Given the description of an element on the screen output the (x, y) to click on. 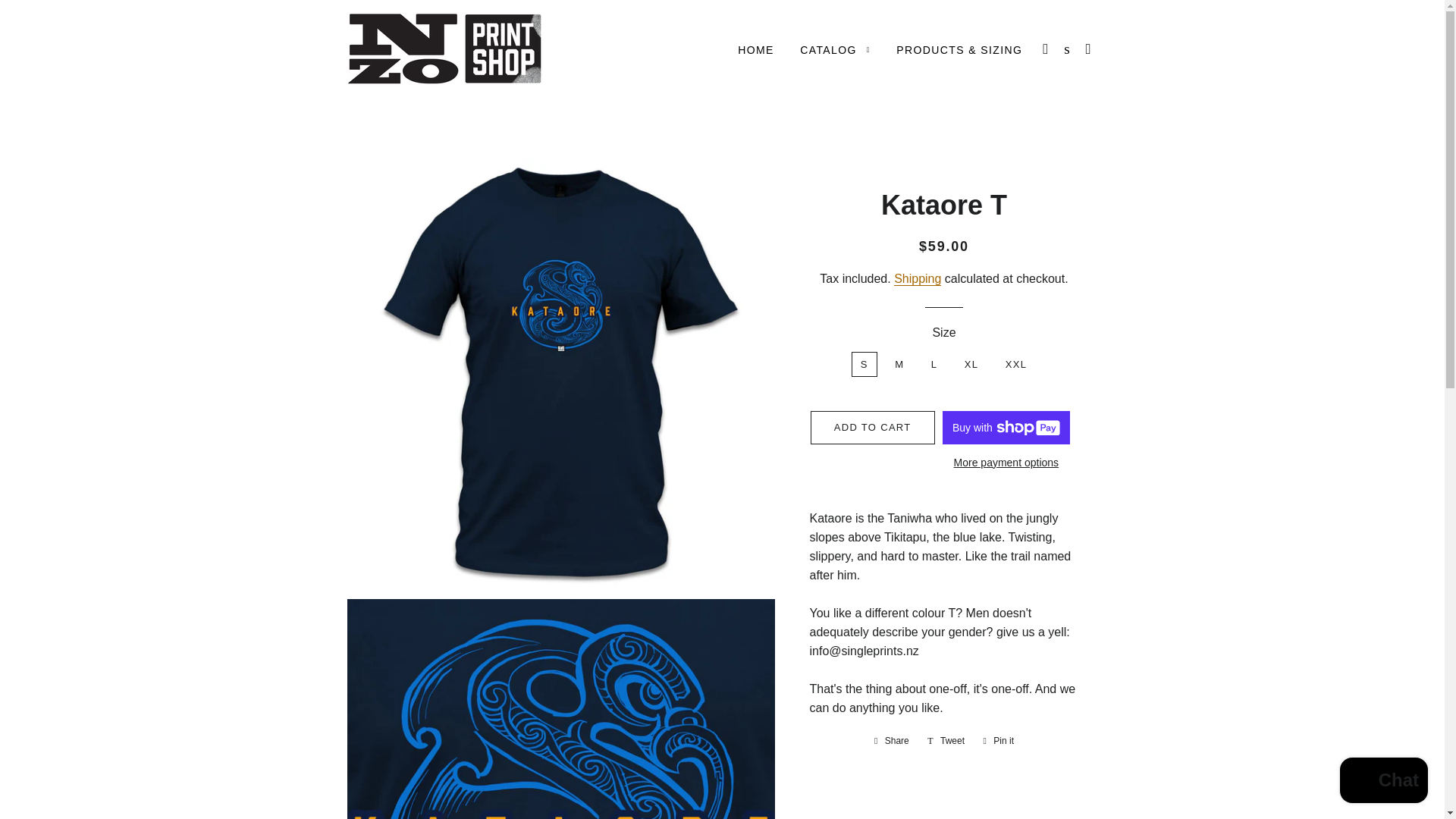
HOME (756, 50)
Pin on Pinterest (998, 740)
CATALOG (834, 50)
Tweet on Twitter (946, 740)
Shopify online store chat (1383, 781)
